Given the description of an element on the screen output the (x, y) to click on. 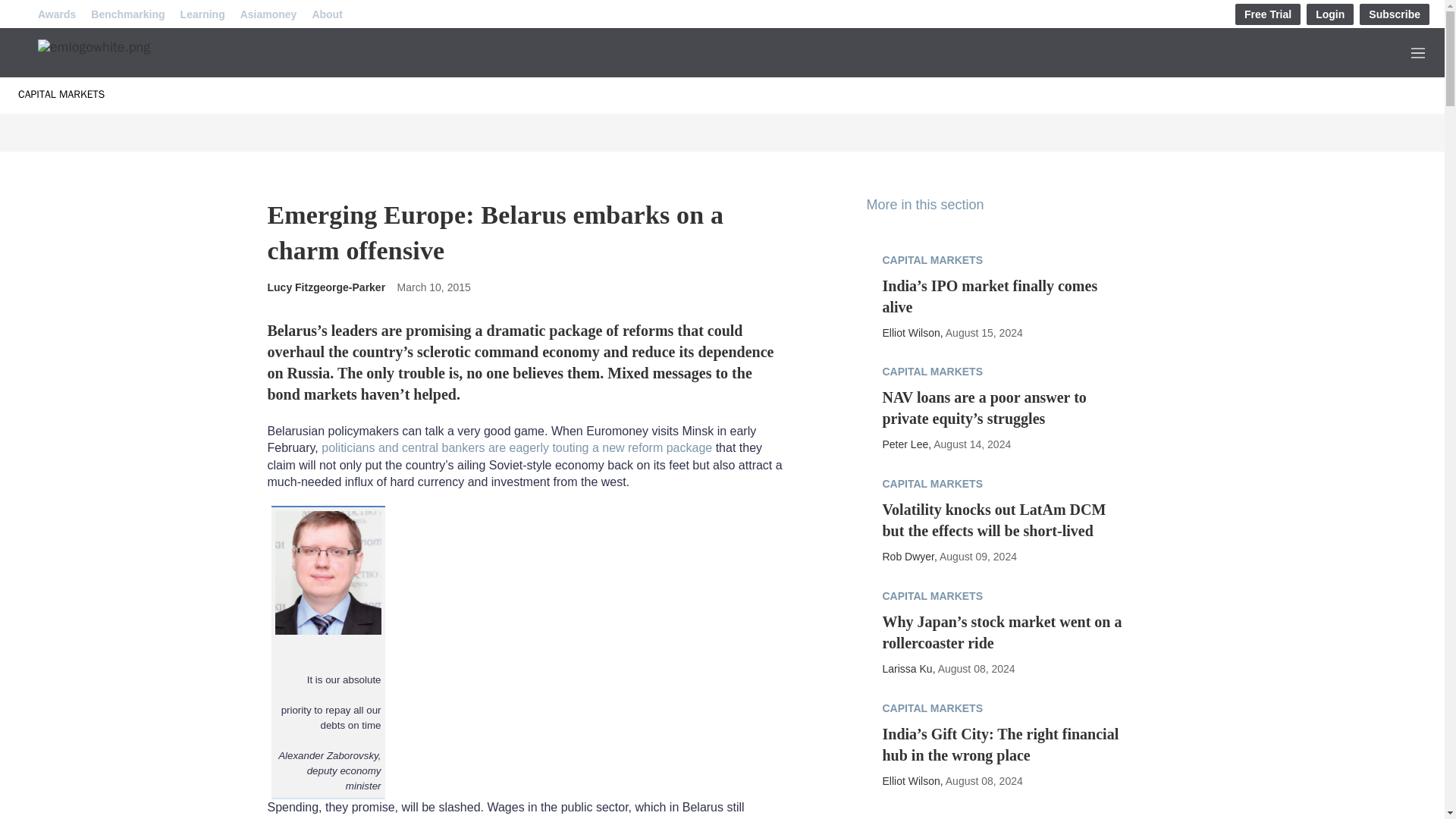
Login (1329, 13)
Awards (56, 13)
About (326, 13)
Asiamoney (268, 13)
Subscribe (1394, 13)
Learning (202, 13)
Benchmarking (127, 13)
Free Trial (1267, 13)
